Given the description of an element on the screen output the (x, y) to click on. 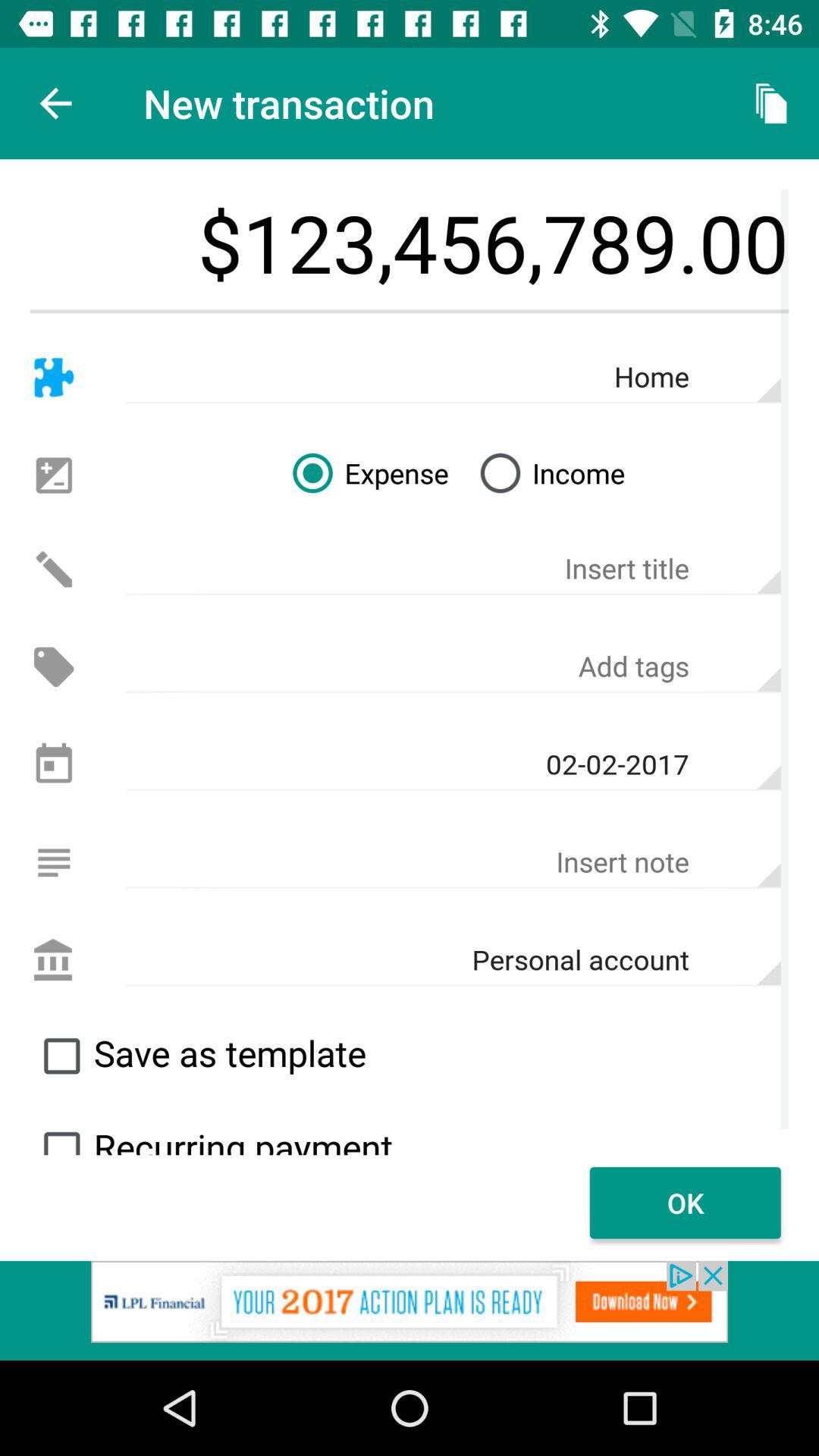
increase decrease option (53, 475)
